Given the description of an element on the screen output the (x, y) to click on. 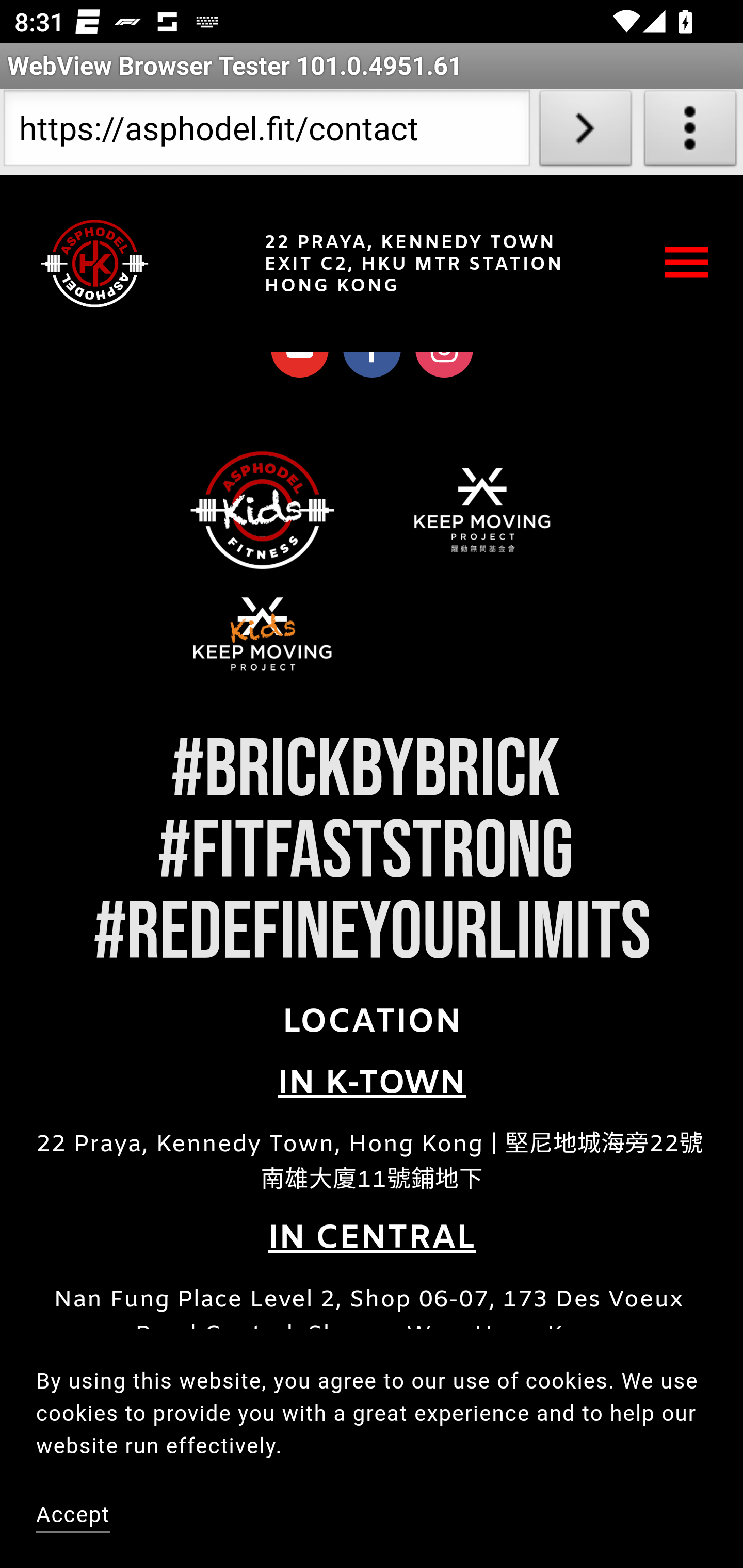
https://asphodel.fit/contact (266, 132)
Load URL (585, 132)
About WebView (690, 132)
Asphodel Fitness (95, 263)
Open navigation menu (686, 264)
ASPHODEL FITNESS-KIDS red white.png (262, 510)
KMP logo website.png (482, 510)
KMP KIDS logo website.png (262, 634)
Accept (74, 1517)
